Given the description of an element on the screen output the (x, y) to click on. 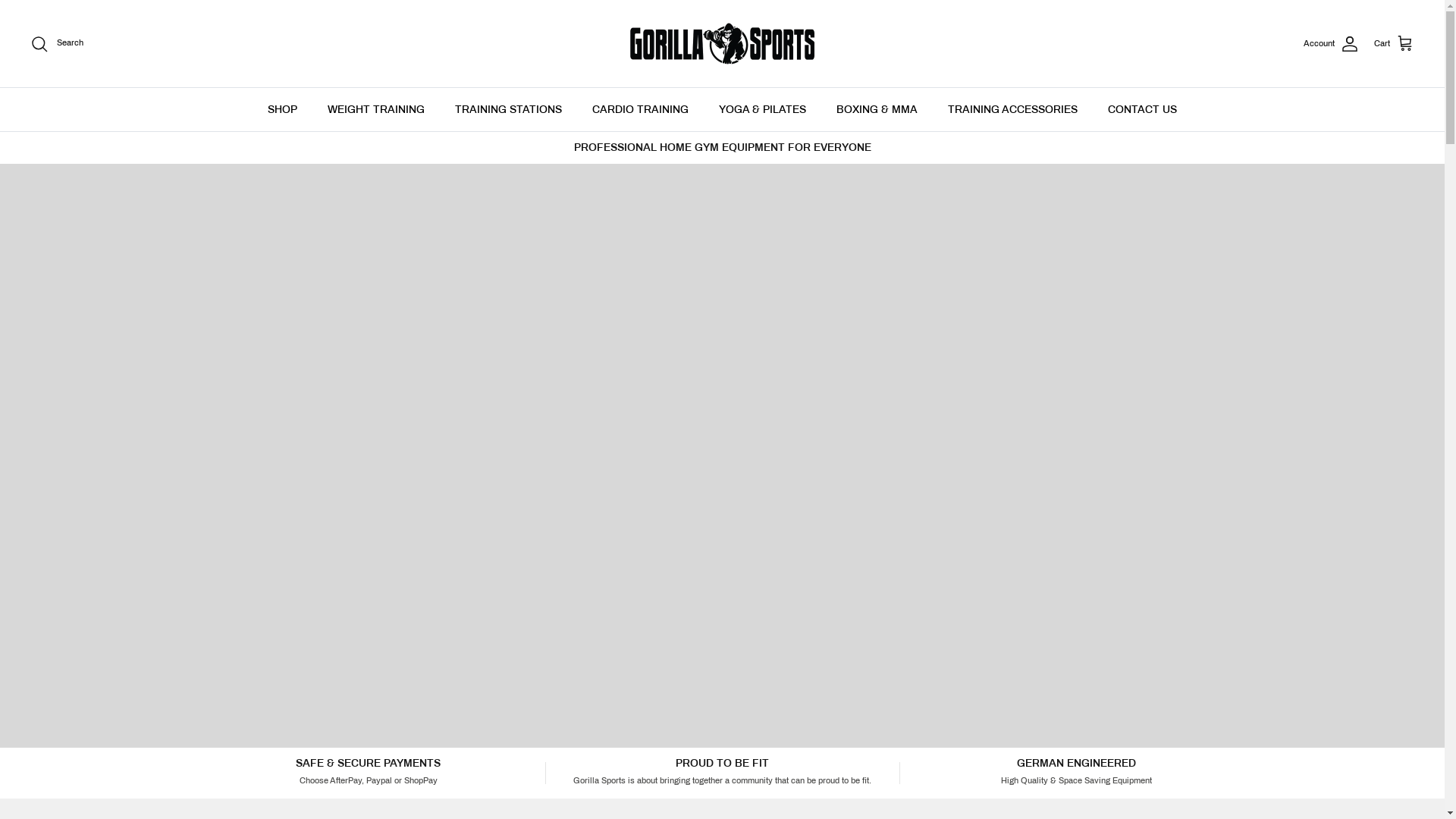
SAFE & SECURE PAYMENTS
Choose AfterPay, Paypal or ShopPay Element type: text (368, 771)
SHOP Element type: text (282, 109)
Account Element type: text (1330, 43)
CARDIO TRAINING Element type: text (640, 109)
TRAINING ACCESSORIES Element type: text (1012, 109)
Search Element type: text (56, 43)
YOGA & PILATES Element type: text (762, 109)
TRAINING STATIONS Element type: text (508, 109)
WEIGHT TRAINING Element type: text (375, 109)
CONTACT US Element type: text (1142, 109)
GorillaSports AU Element type: hover (722, 43)
Cart Element type: text (1394, 43)
BOXING & MMA Element type: text (876, 109)
